Given the description of an element on the screen output the (x, y) to click on. 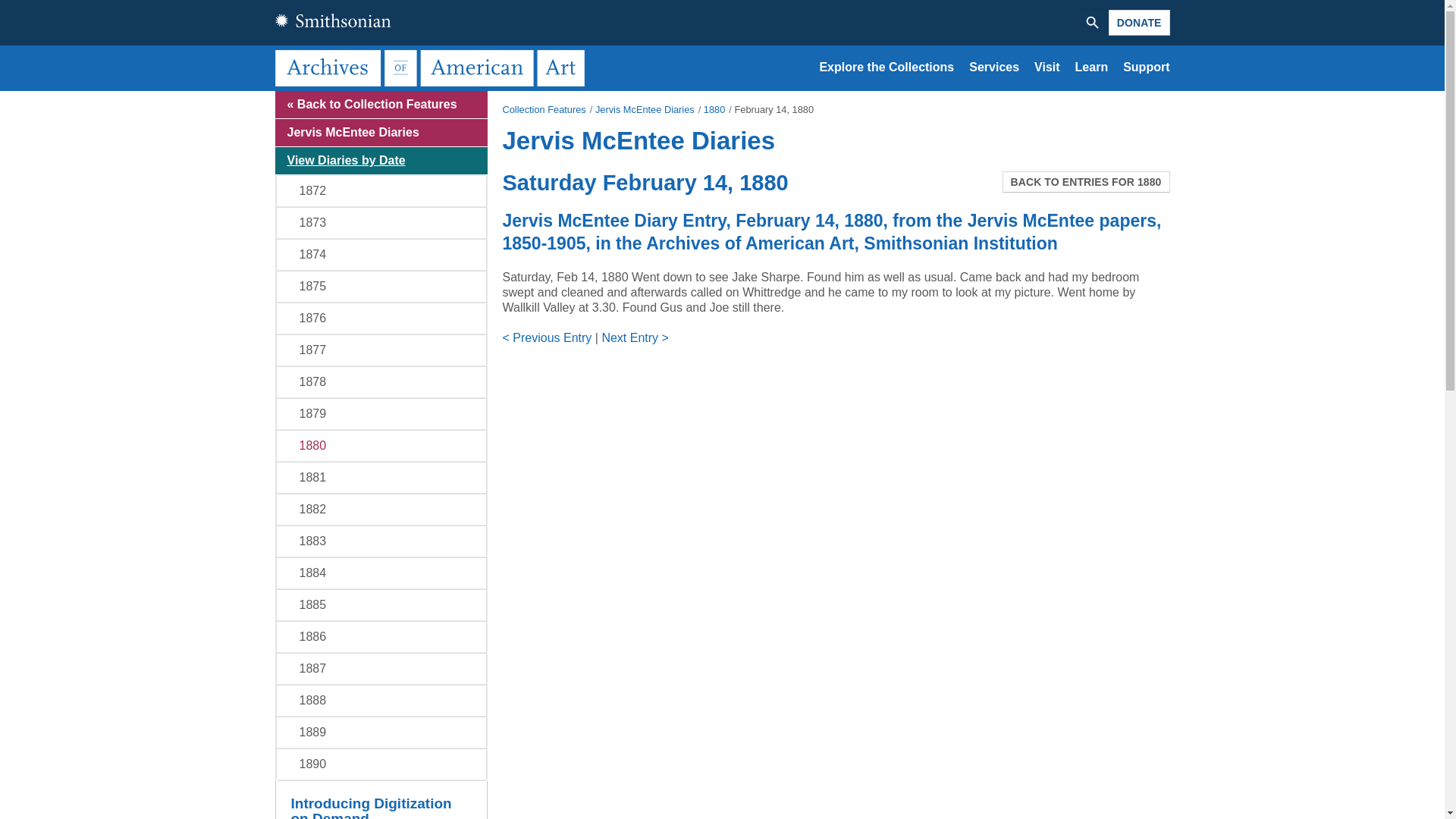
DONATE (1139, 22)
Explore the Collections (885, 67)
Services (994, 67)
Records and Resources (885, 67)
Home (432, 67)
Skip to main content (721, 91)
Archives of American Art, Smithsonian Institution (432, 67)
